Given the description of an element on the screen output the (x, y) to click on. 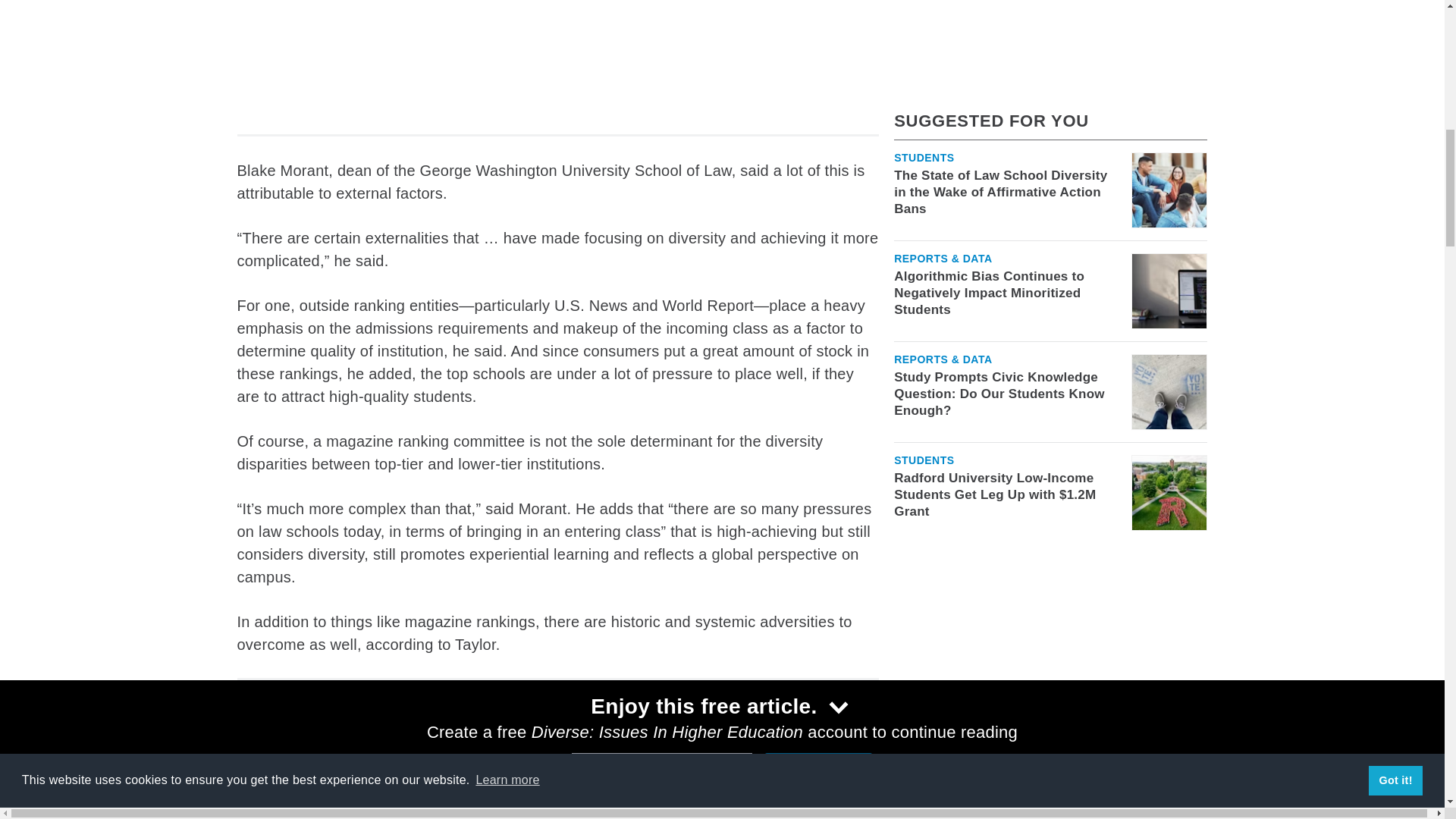
3rd party ad content (557, 55)
